Given the description of an element on the screen output the (x, y) to click on. 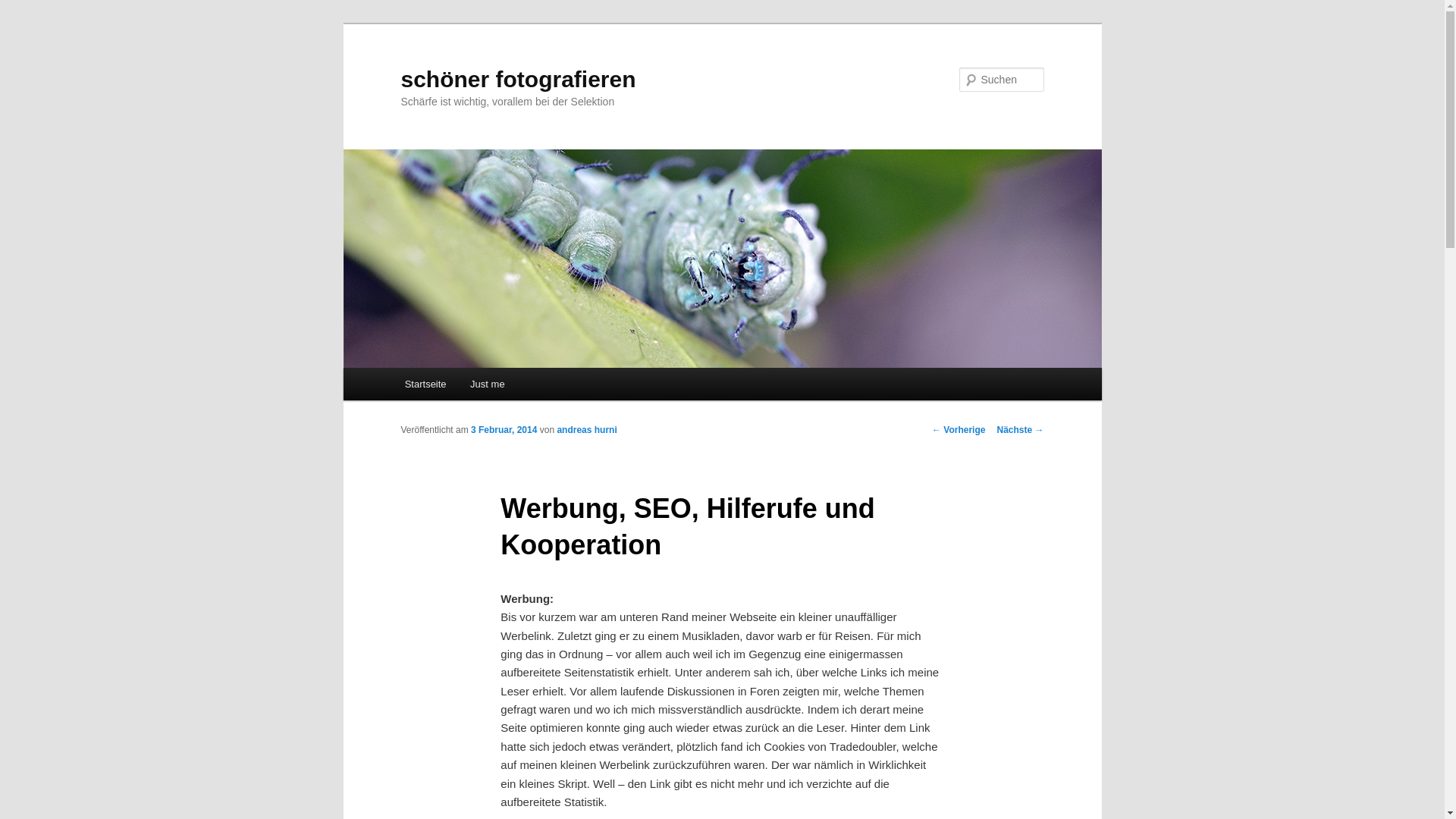
andreas hurni Element type: text (586, 429)
Startseite Element type: text (425, 383)
Zum Inhalt wechseln Element type: text (22, 22)
3 Februar, 2014 Element type: text (503, 429)
Just me Element type: text (487, 383)
Suchen Element type: text (25, 8)
